Given the description of an element on the screen output the (x, y) to click on. 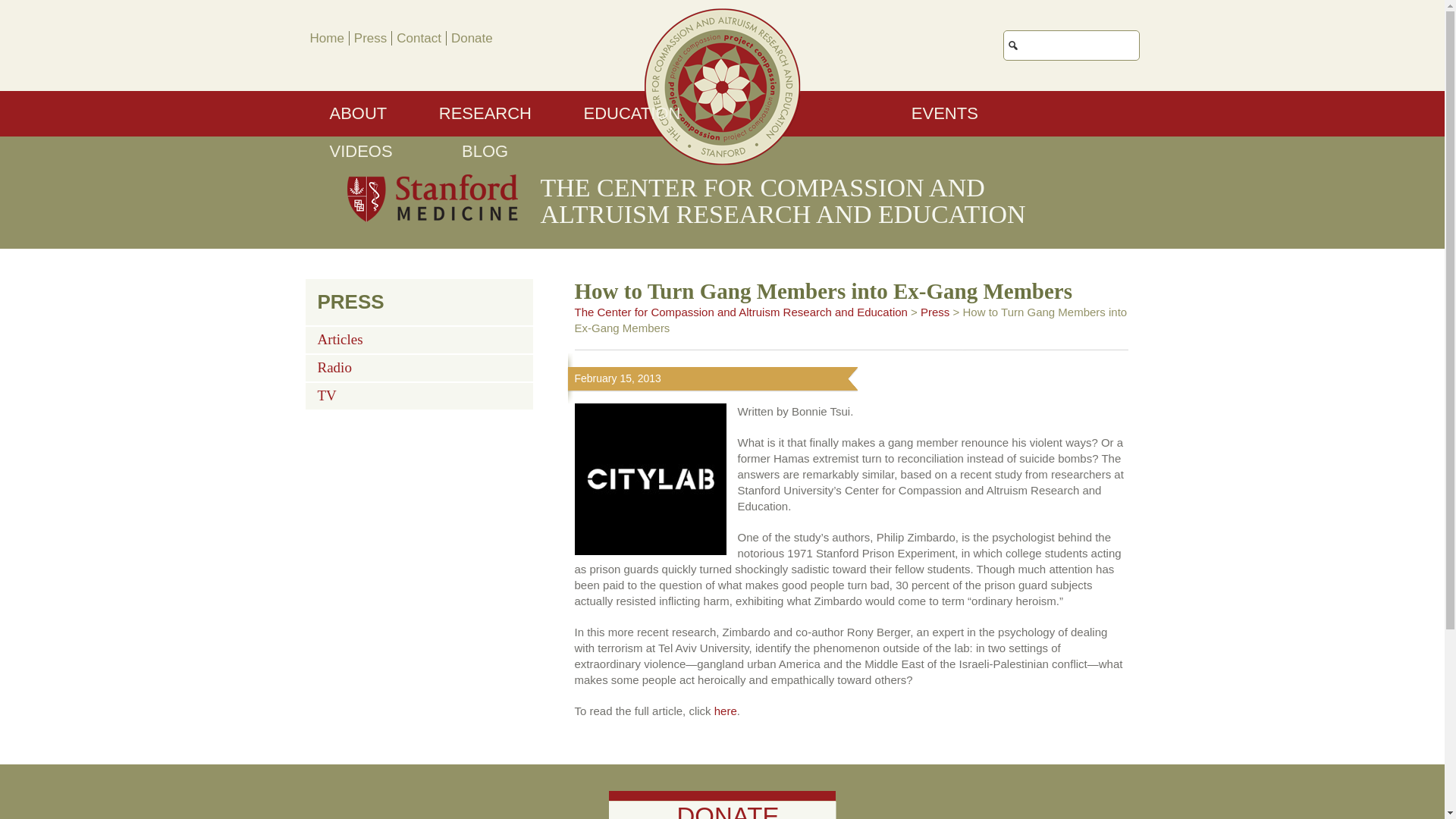
here (725, 710)
TV (326, 392)
Search (1189, 37)
BLOG (484, 151)
Articles (339, 336)
EDUCATION (631, 113)
Press (934, 311)
Search (1189, 37)
Go to Press. (934, 311)
